Given the description of an element on the screen output the (x, y) to click on. 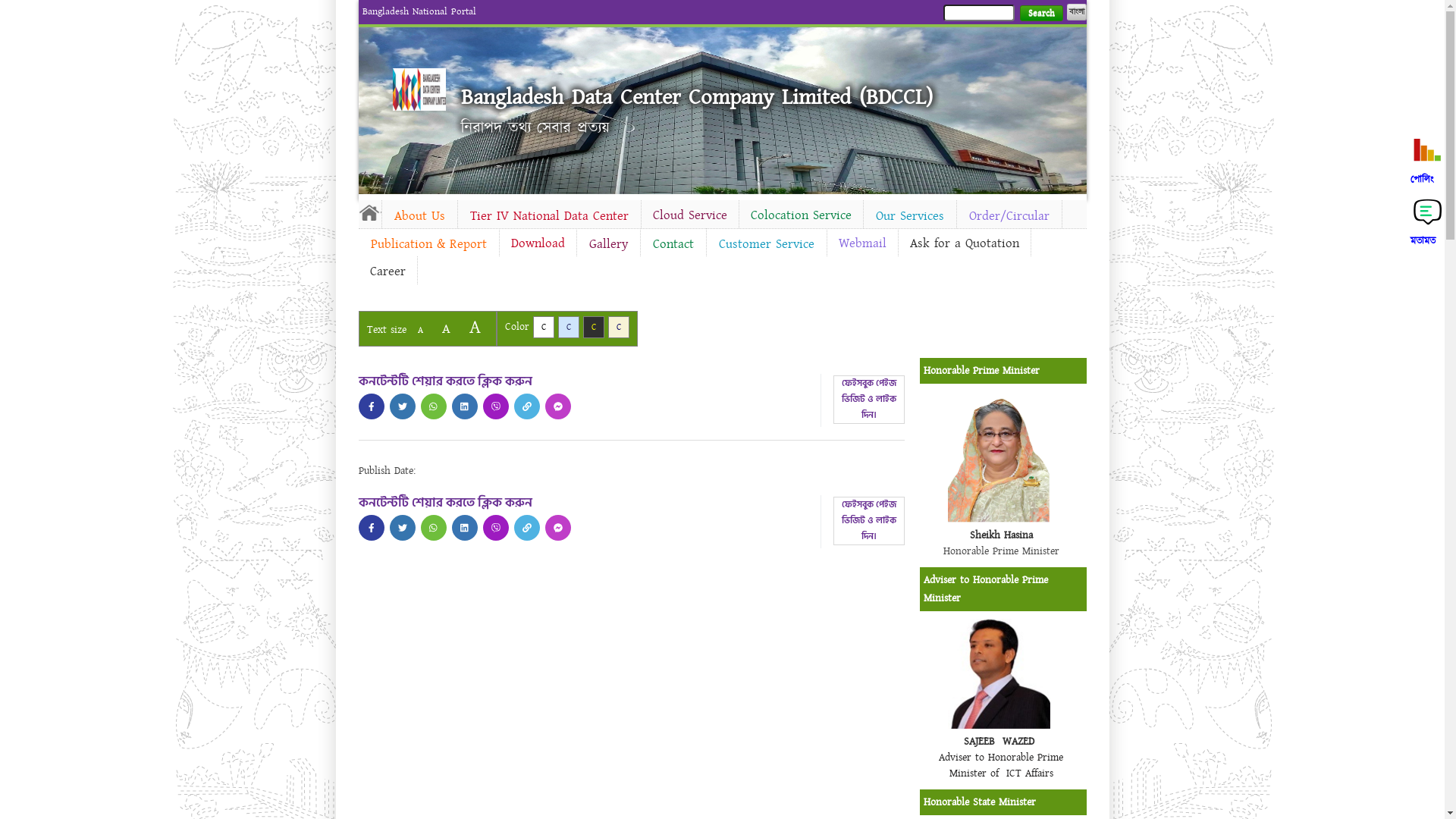
C Element type: text (568, 327)
Order/Circular Element type: text (1009, 216)
Bangladesh Data Center Company Limited (BDCCL) Element type: text (696, 96)
Home Element type: hover (418, 89)
Publication & Report Element type: text (427, 244)
A Element type: text (445, 328)
C Element type: text (618, 327)
Our Services Element type: text (908, 216)
Career Element type: text (386, 271)
Cloud Service Element type: text (689, 215)
Download Element type: text (536, 243)
A Element type: text (474, 327)
Search Element type: text (1040, 13)
Contact Element type: text (672, 244)
Gallery Element type: text (607, 244)
Webmail Element type: text (861, 243)
Tier IV National Data Center Element type: text (549, 216)
C Element type: text (542, 327)
Home Element type: hover (368, 211)
Colocation Service Element type: text (800, 215)
A Element type: text (419, 330)
Bangladesh National Portal Element type: text (419, 11)
Customer Service Element type: text (766, 244)
About Us Element type: text (419, 216)
C Element type: text (592, 327)
Ask for a Quotation Element type: text (963, 243)
